Given the description of an element on the screen output the (x, y) to click on. 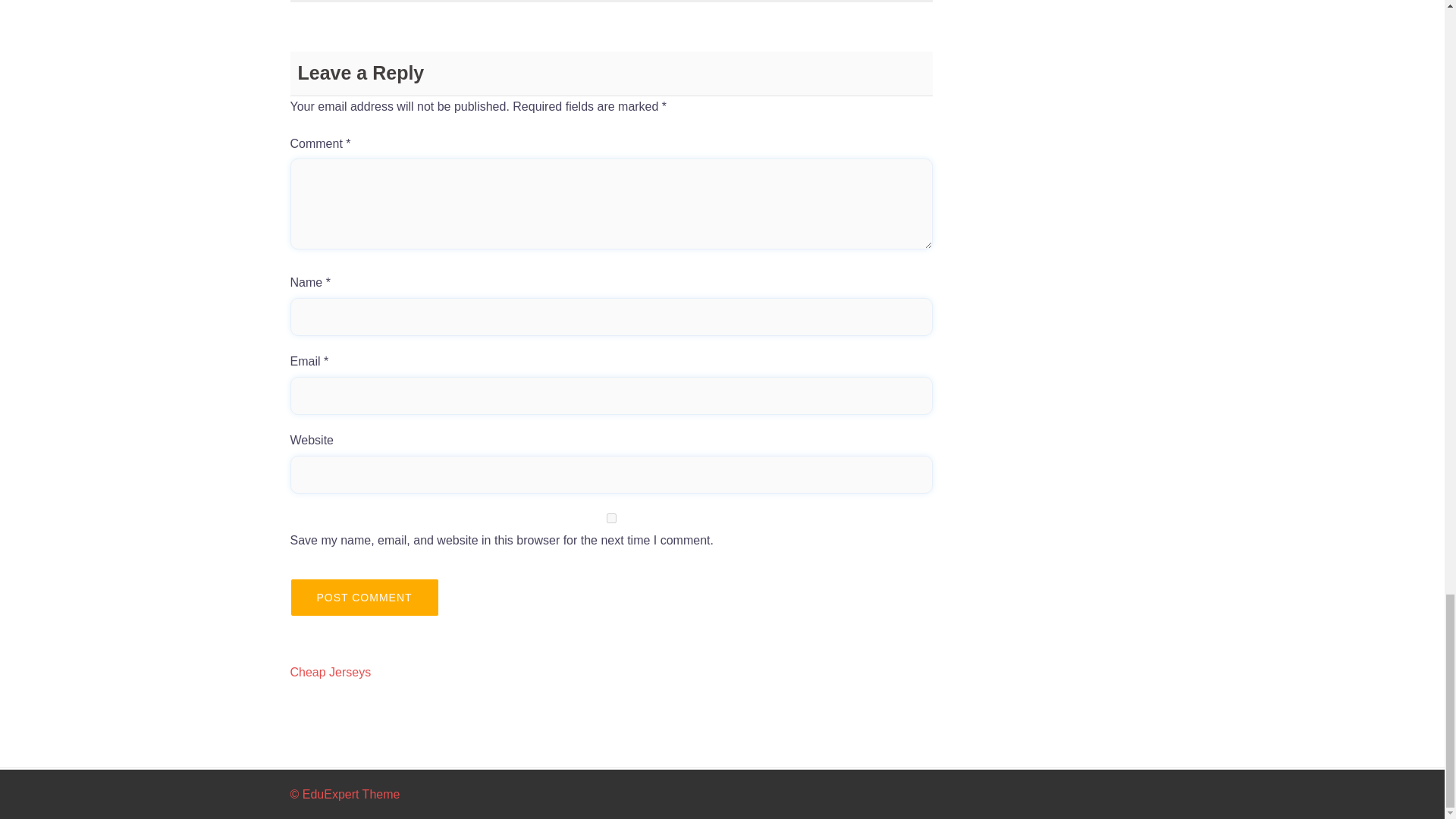
Post Comment (363, 597)
yes (611, 518)
Post Comment (363, 597)
Cheap Jerseys (330, 671)
